Given the description of an element on the screen output the (x, y) to click on. 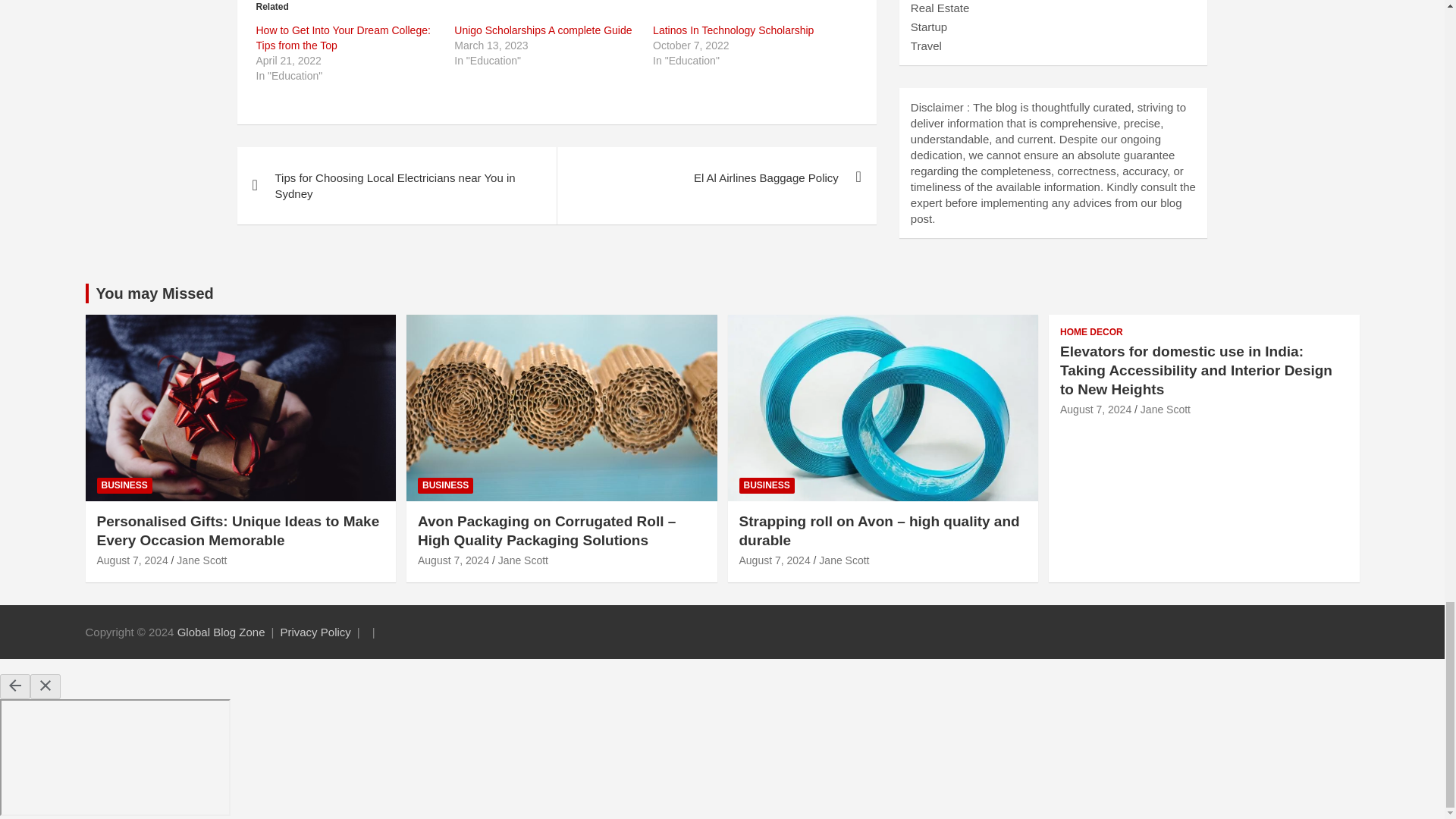
How to Get Into Your Dream College: Tips from the Top (343, 37)
Unigo Scholarships A complete Guide (542, 30)
Global Blog Zone (220, 631)
Latinos In Technology Scholarship (732, 30)
